Given the description of an element on the screen output the (x, y) to click on. 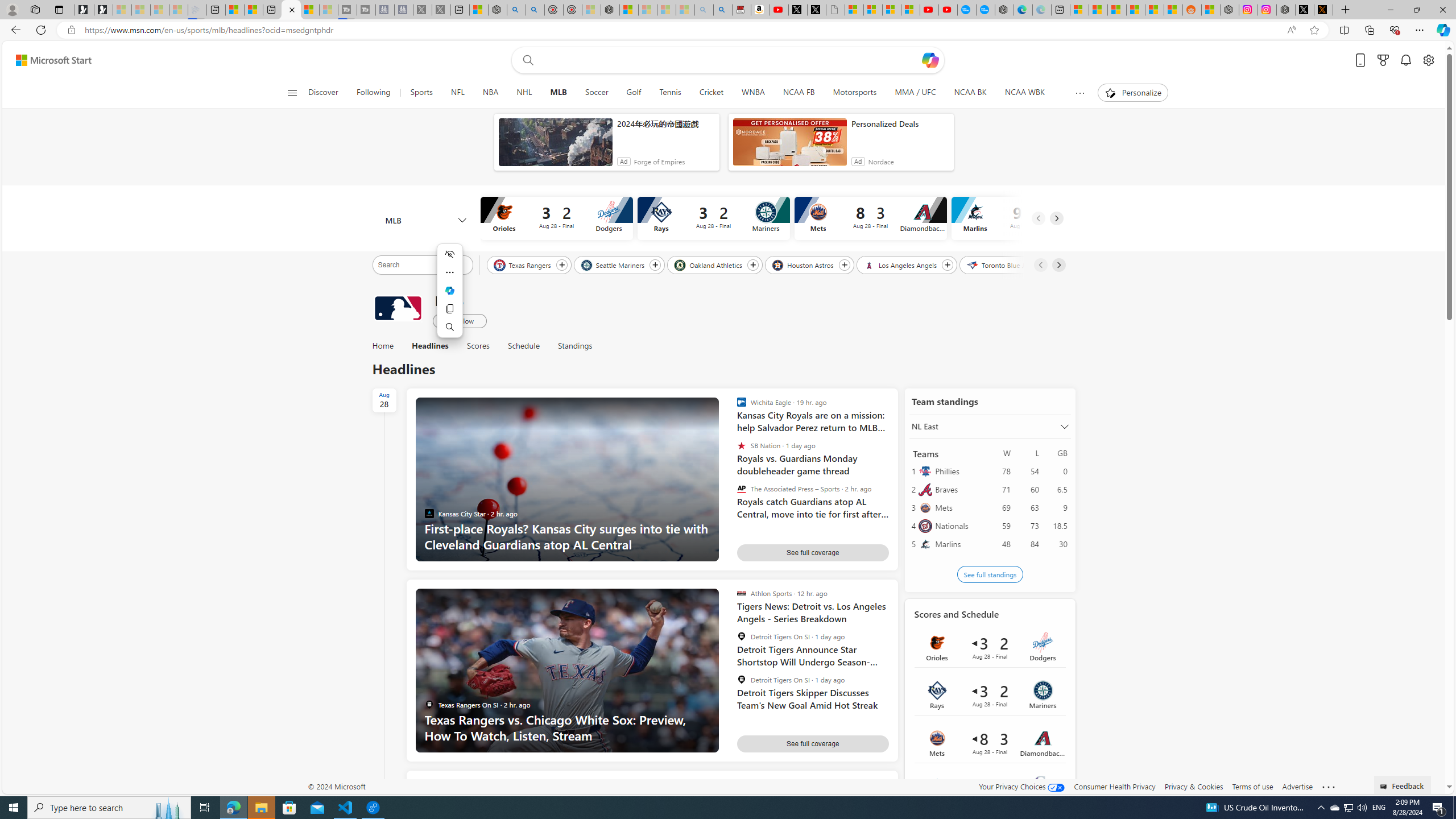
Personalized Deals (899, 123)
Headlines (430, 345)
Braves (958, 489)
Nationals (958, 525)
Class: feedback_link_icon-DS-EntryPoint1-1 (1384, 786)
Shanghai, China hourly forecast | Microsoft Weather (1116, 9)
Ask Copilot (449, 290)
NHL (524, 92)
Untitled (835, 9)
